Given the description of an element on the screen output the (x, y) to click on. 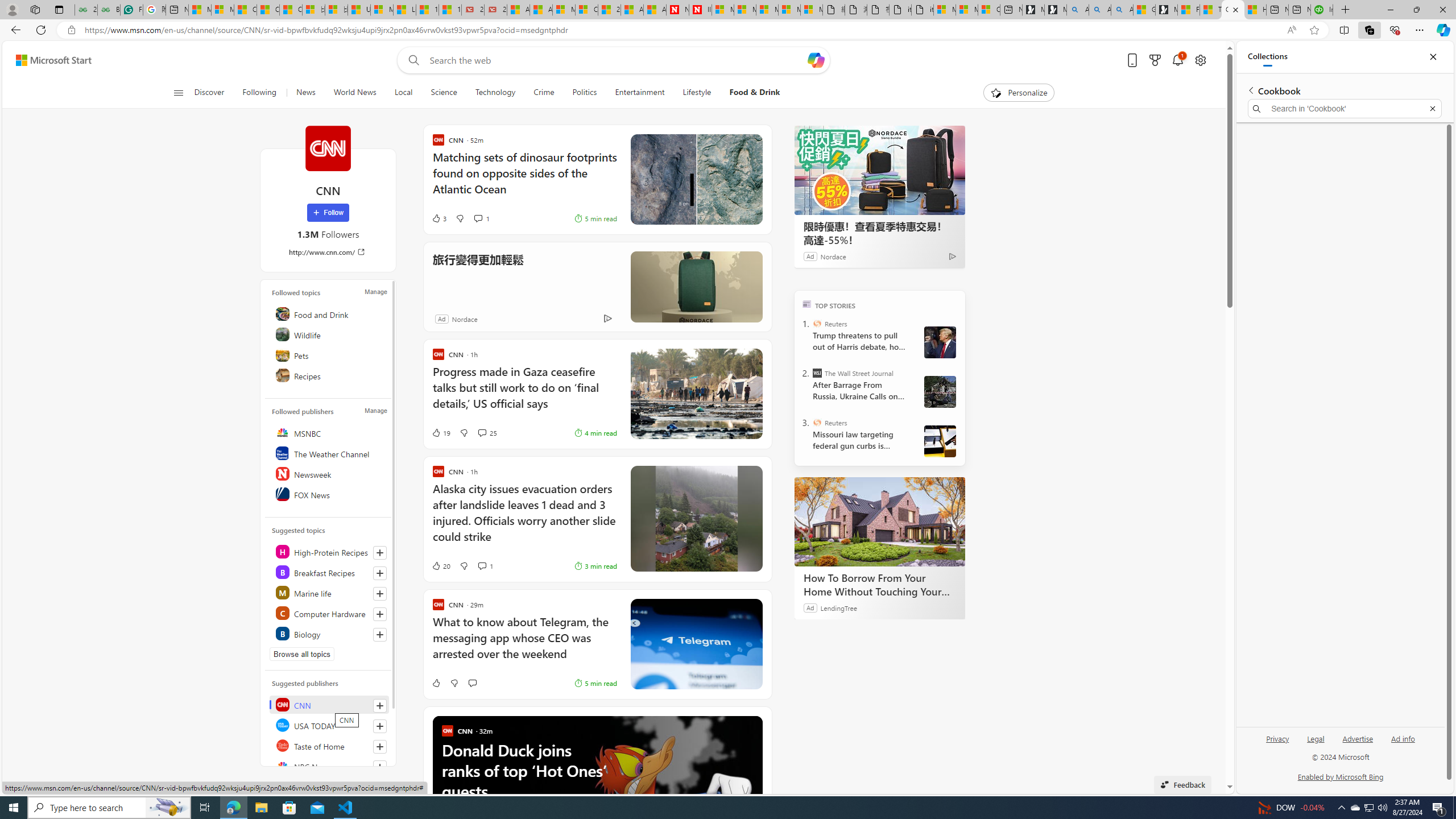
News (305, 92)
Science (442, 92)
Local (403, 92)
Open settings (1199, 60)
Wildlife (328, 334)
Feedback (1182, 784)
Browse all topics (301, 653)
Food & Drink (754, 92)
Reuters (816, 422)
Ad info (1402, 738)
